Given the description of an element on the screen output the (x, y) to click on. 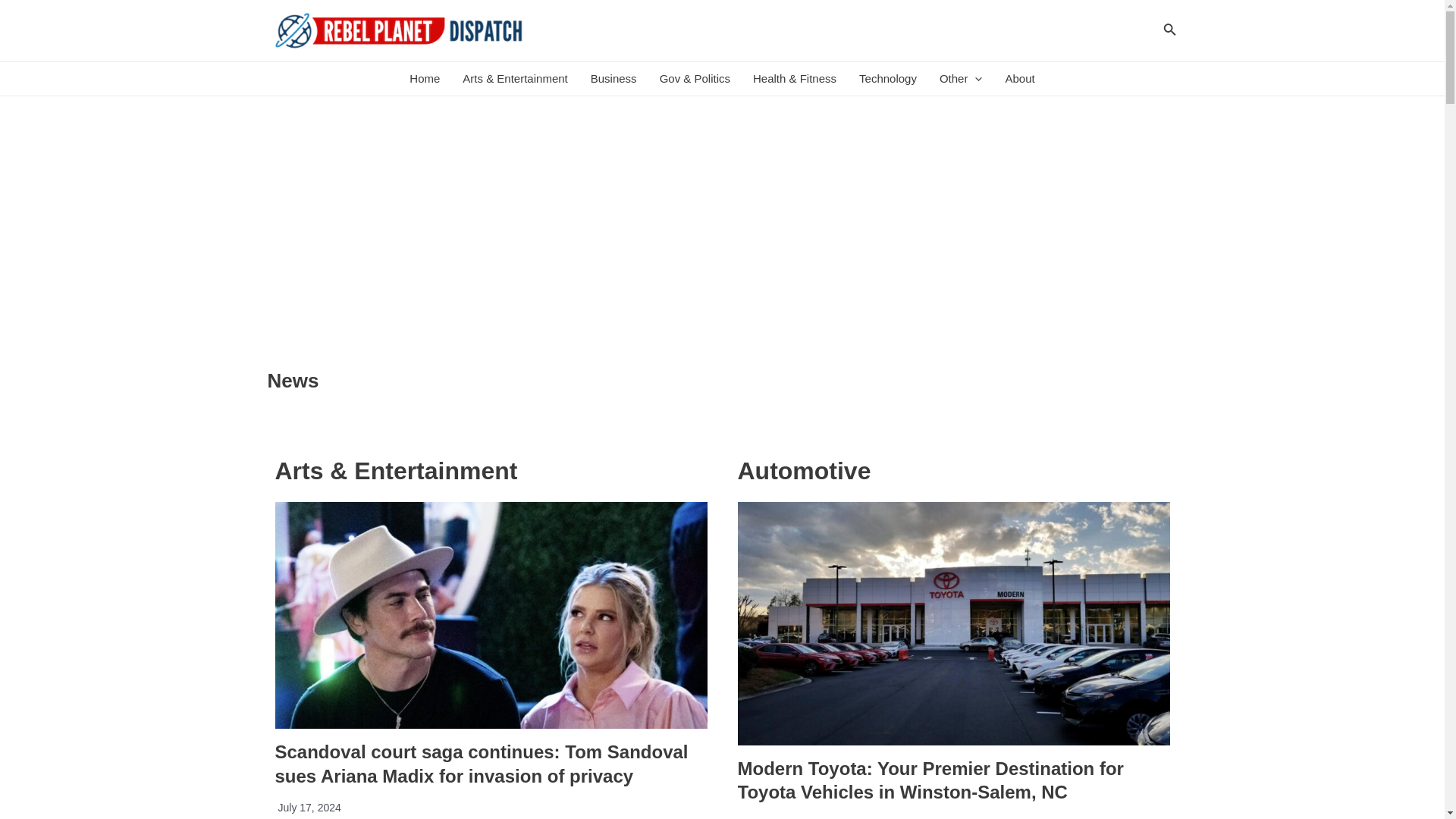
Business (613, 78)
Technology (887, 78)
Home (424, 78)
Other (961, 78)
About (1018, 78)
